Given the description of an element on the screen output the (x, y) to click on. 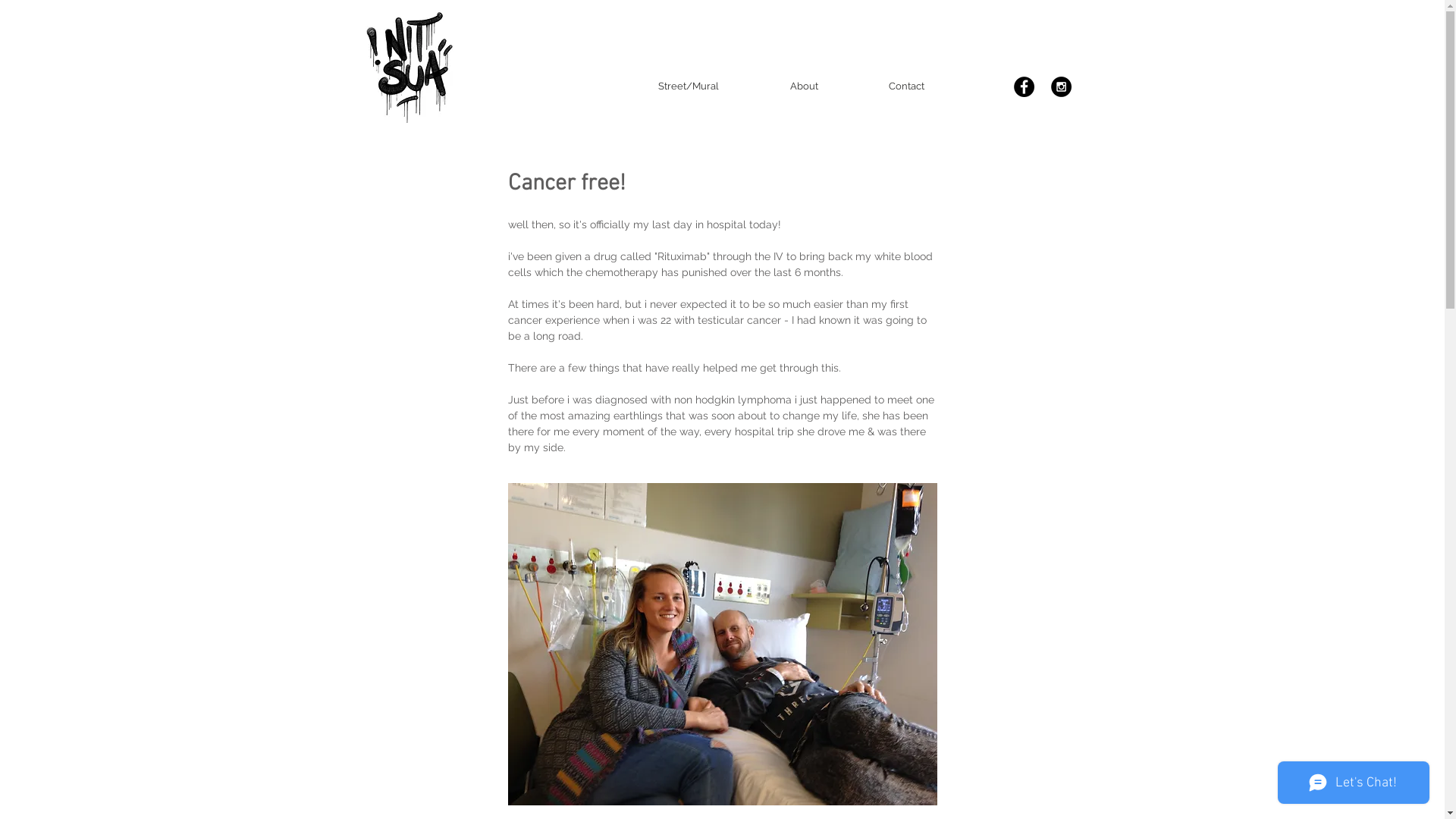
Street/Mural Element type: text (687, 86)
Contact Element type: text (906, 86)
About Element type: text (803, 86)
